Given the description of an element on the screen output the (x, y) to click on. 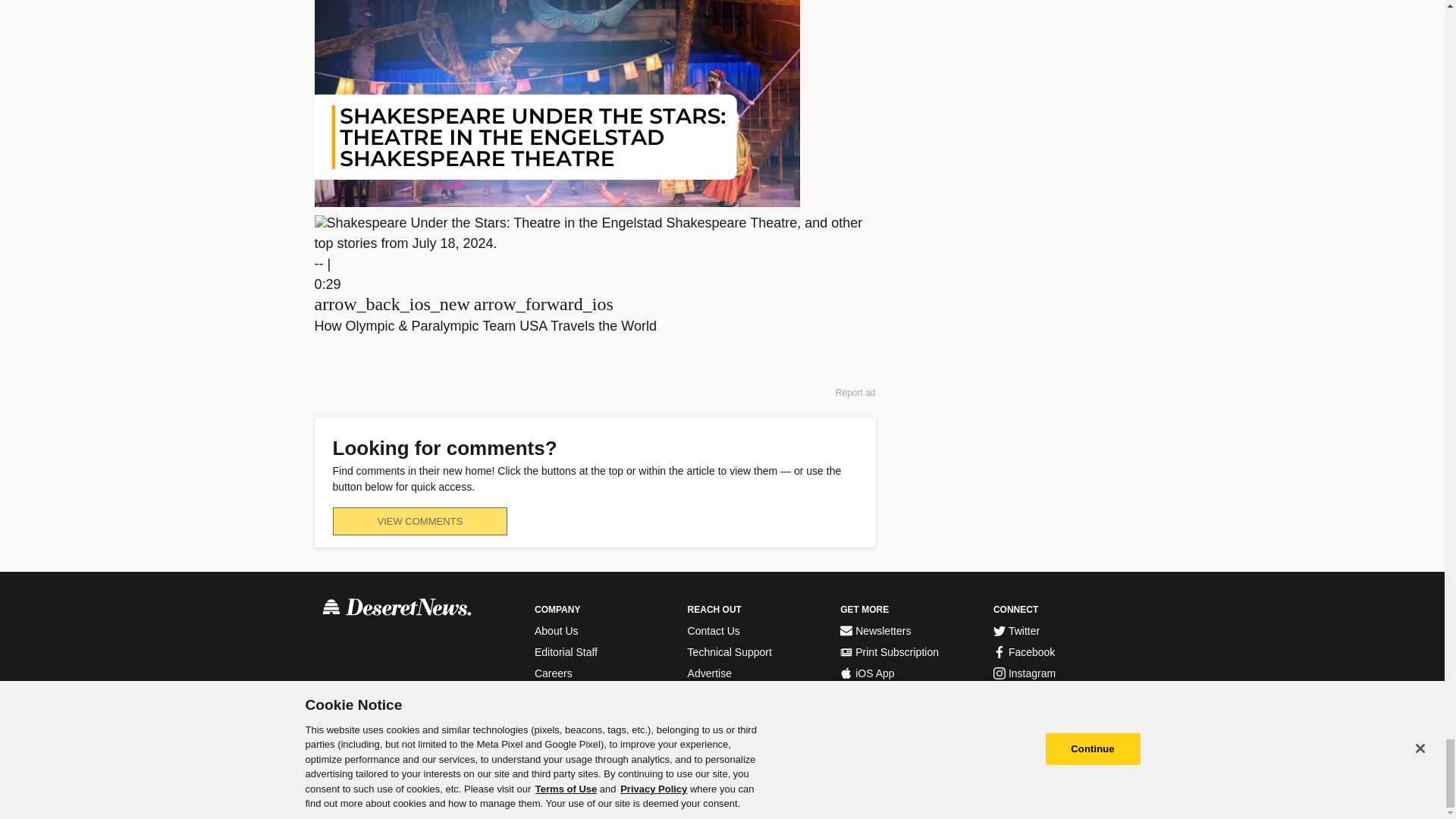
Report ad (855, 392)
VIEW COMMENTS (418, 520)
